Given the description of an element on the screen output the (x, y) to click on. 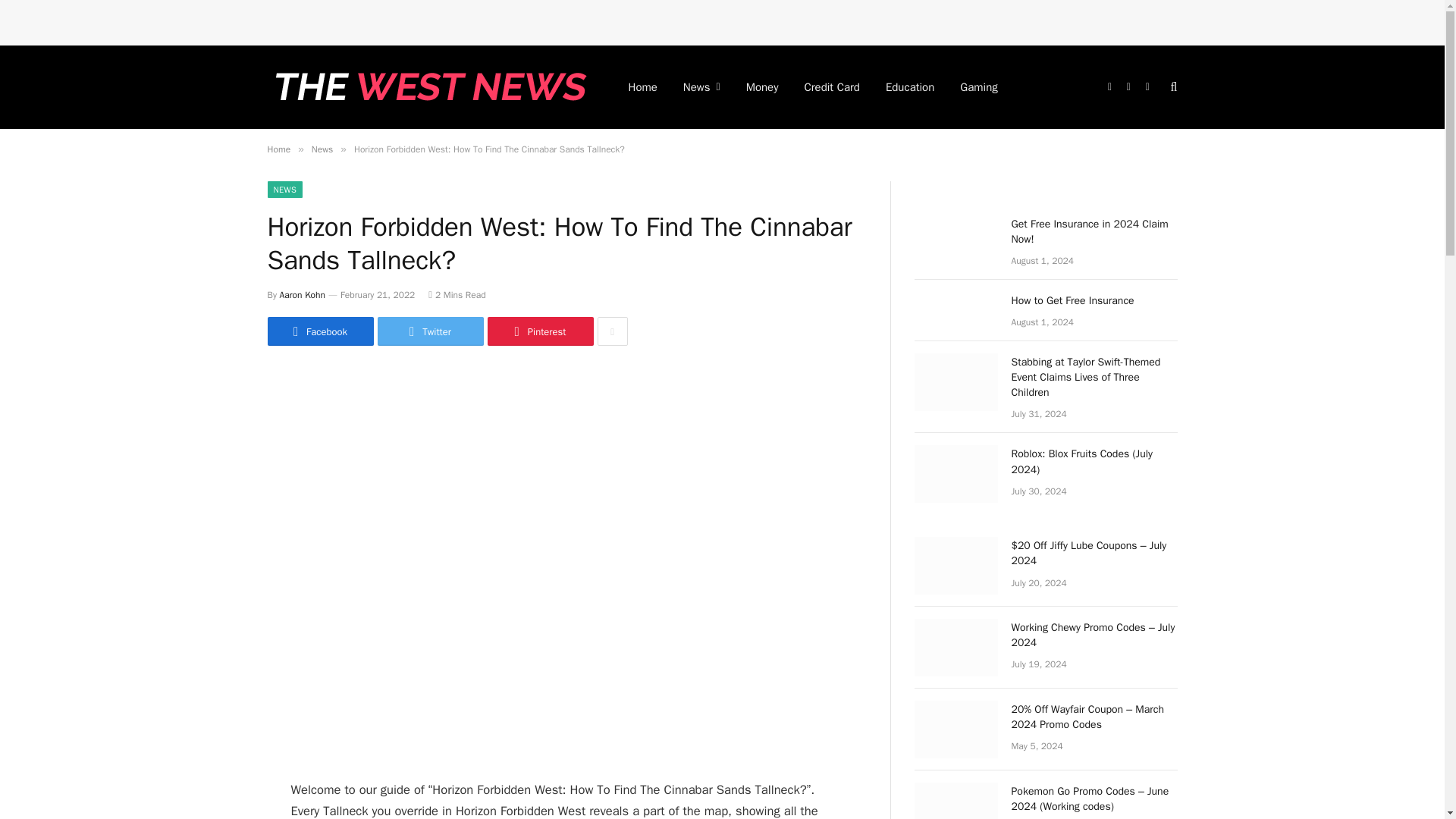
Show More Social Sharing (611, 330)
Posts by Aaron Kohn (301, 295)
Home (277, 149)
Twitter (430, 330)
Education (909, 86)
Facebook (319, 330)
The West News (427, 86)
Pinterest (539, 330)
Share on Pinterest (539, 330)
News (322, 149)
Share on Facebook (319, 330)
NEWS (284, 189)
Aaron Kohn (301, 295)
Credit Card (832, 86)
